Given the description of an element on the screen output the (x, y) to click on. 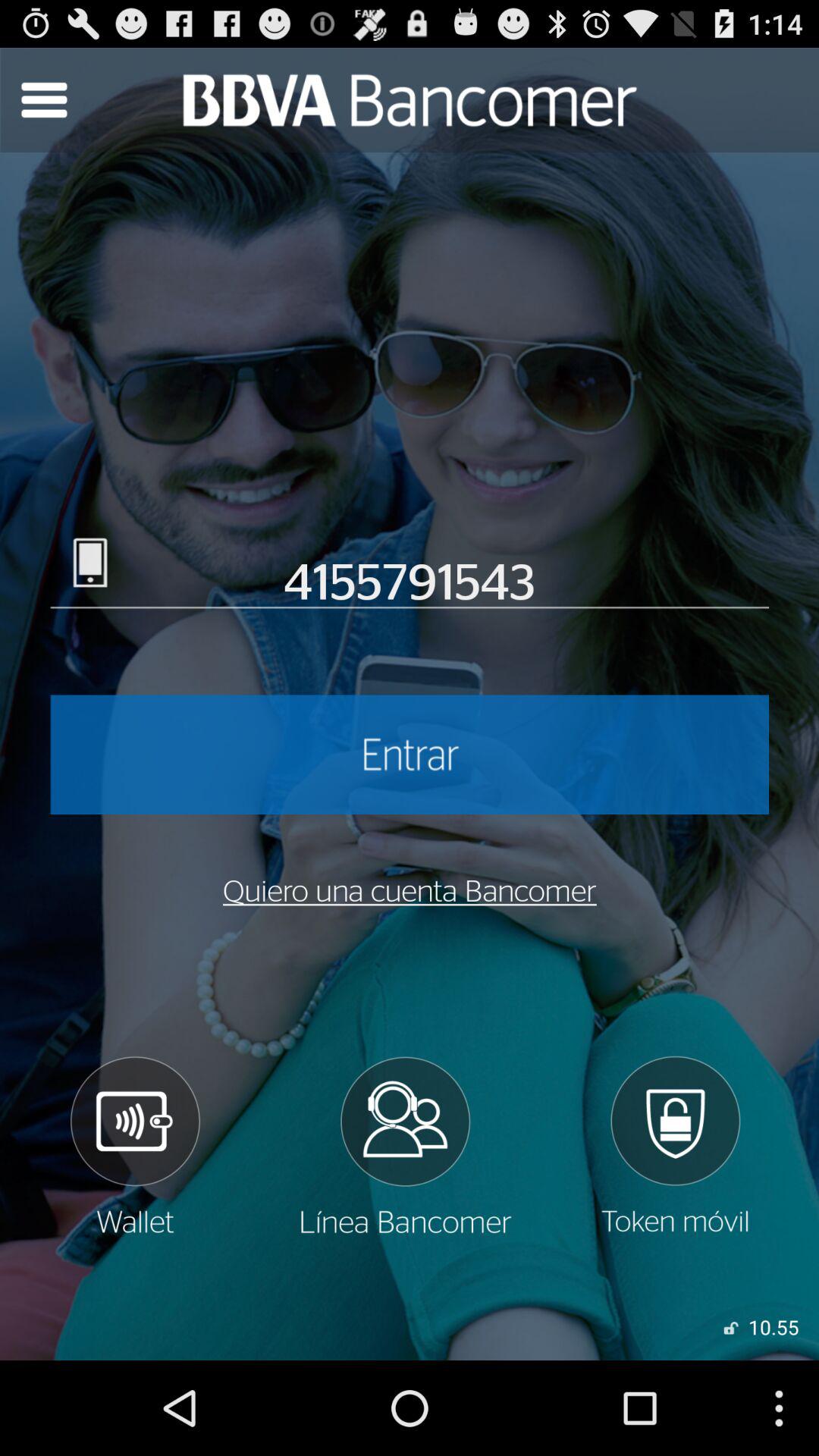
wallet (134, 1145)
